Given the description of an element on the screen output the (x, y) to click on. 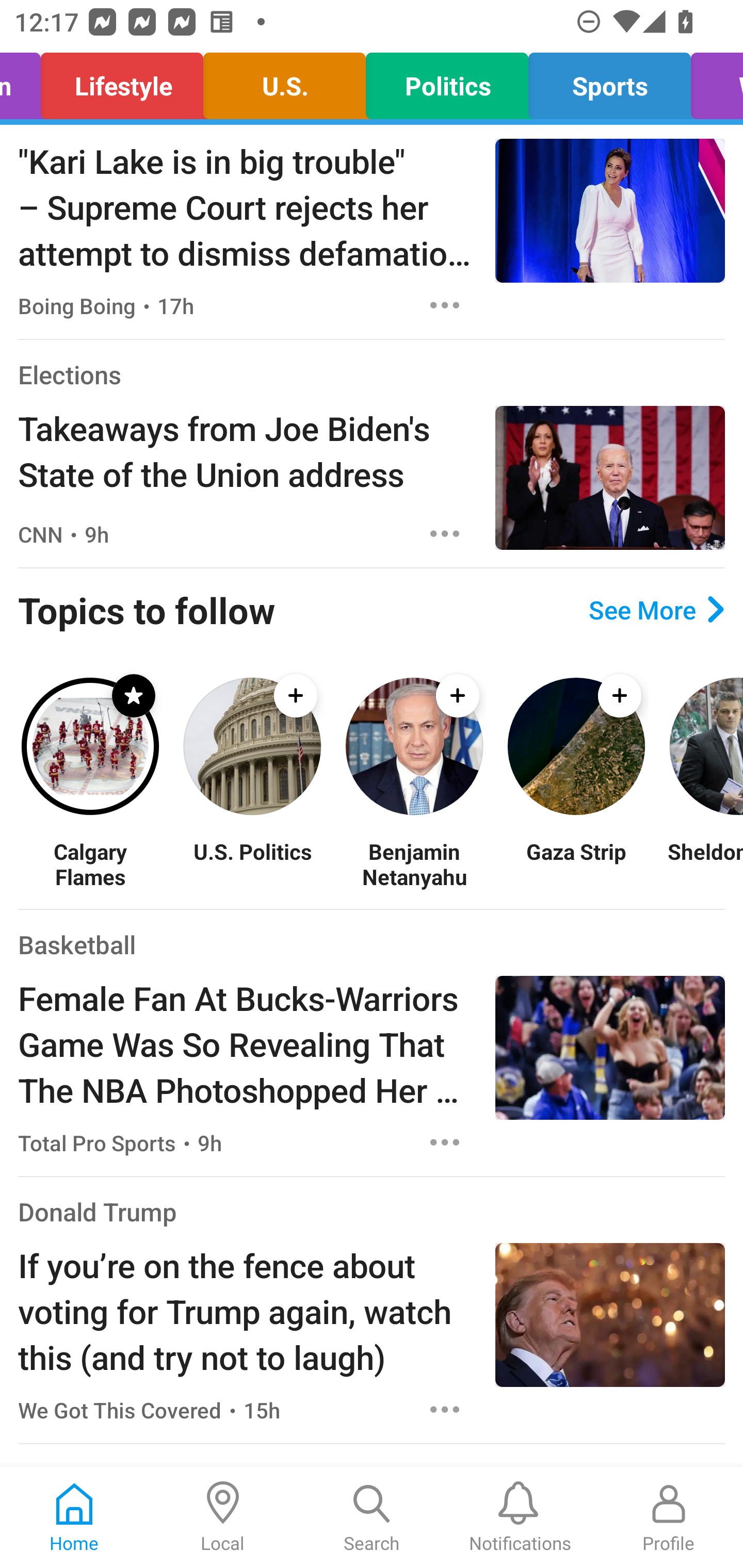
Lifestyle (121, 81)
U.S. (284, 81)
Politics (447, 81)
Sports (609, 81)
Options (444, 305)
Elections (69, 374)
Options (444, 533)
See More (656, 609)
Calgary Flames (89, 863)
U.S. Politics (251, 863)
Benjamin Netanyahu (413, 863)
Gaza Strip (575, 863)
Sheldon Keefe (704, 863)
Basketball (76, 943)
Options (444, 1142)
Donald Trump (97, 1211)
Options (444, 1409)
Local (222, 1517)
Search (371, 1517)
Notifications (519, 1517)
Profile (668, 1517)
